Given the description of an element on the screen output the (x, y) to click on. 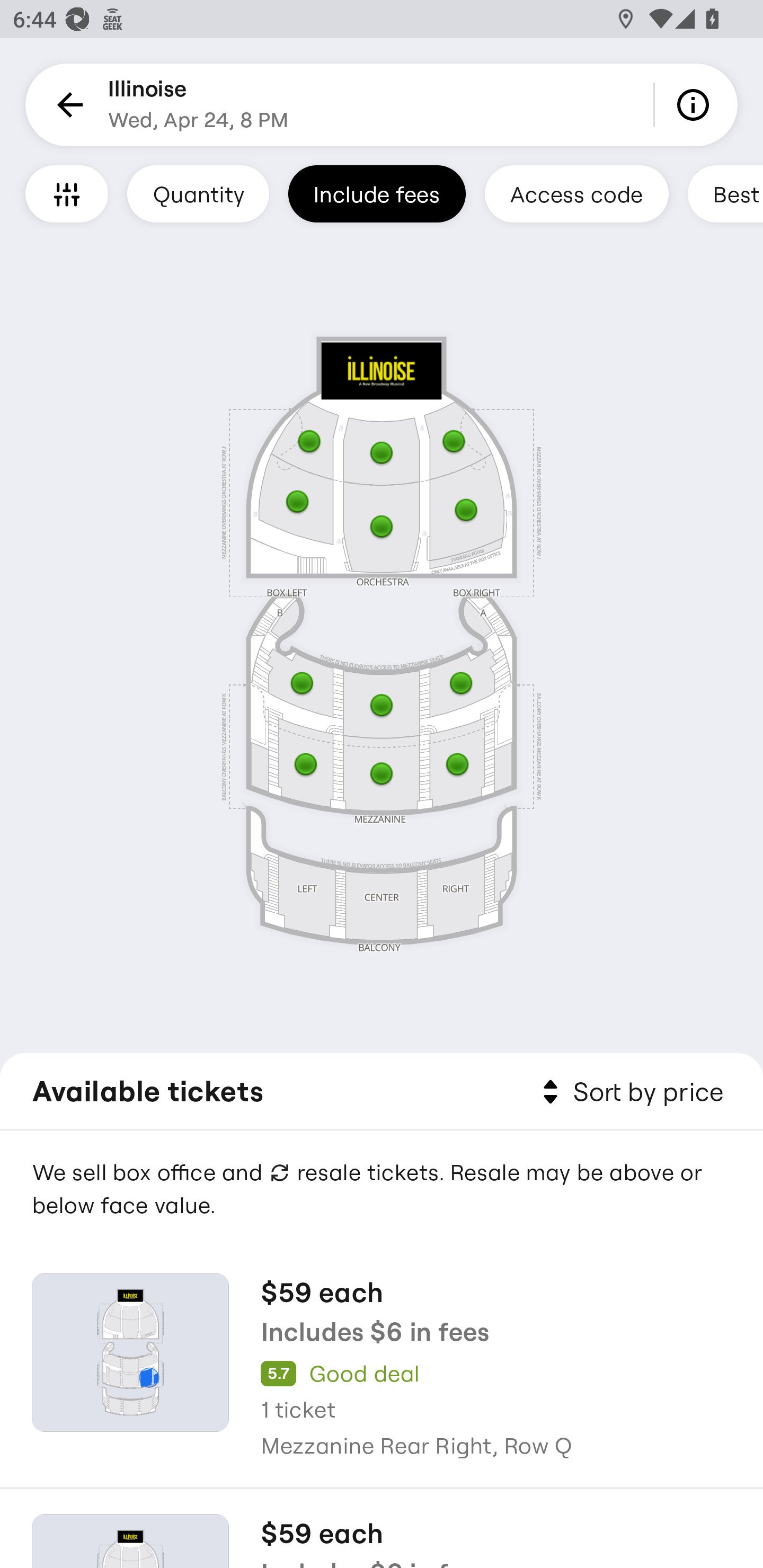
Back (66, 104)
Illinoise Wed, Apr 24, 8 PM (198, 104)
Info (695, 104)
Filters and Accessible Seating (66, 193)
Quantity (198, 193)
Include fees (376, 193)
Access code (576, 193)
Best seats (725, 193)
Sort by price (629, 1091)
